Given the description of an element on the screen output the (x, y) to click on. 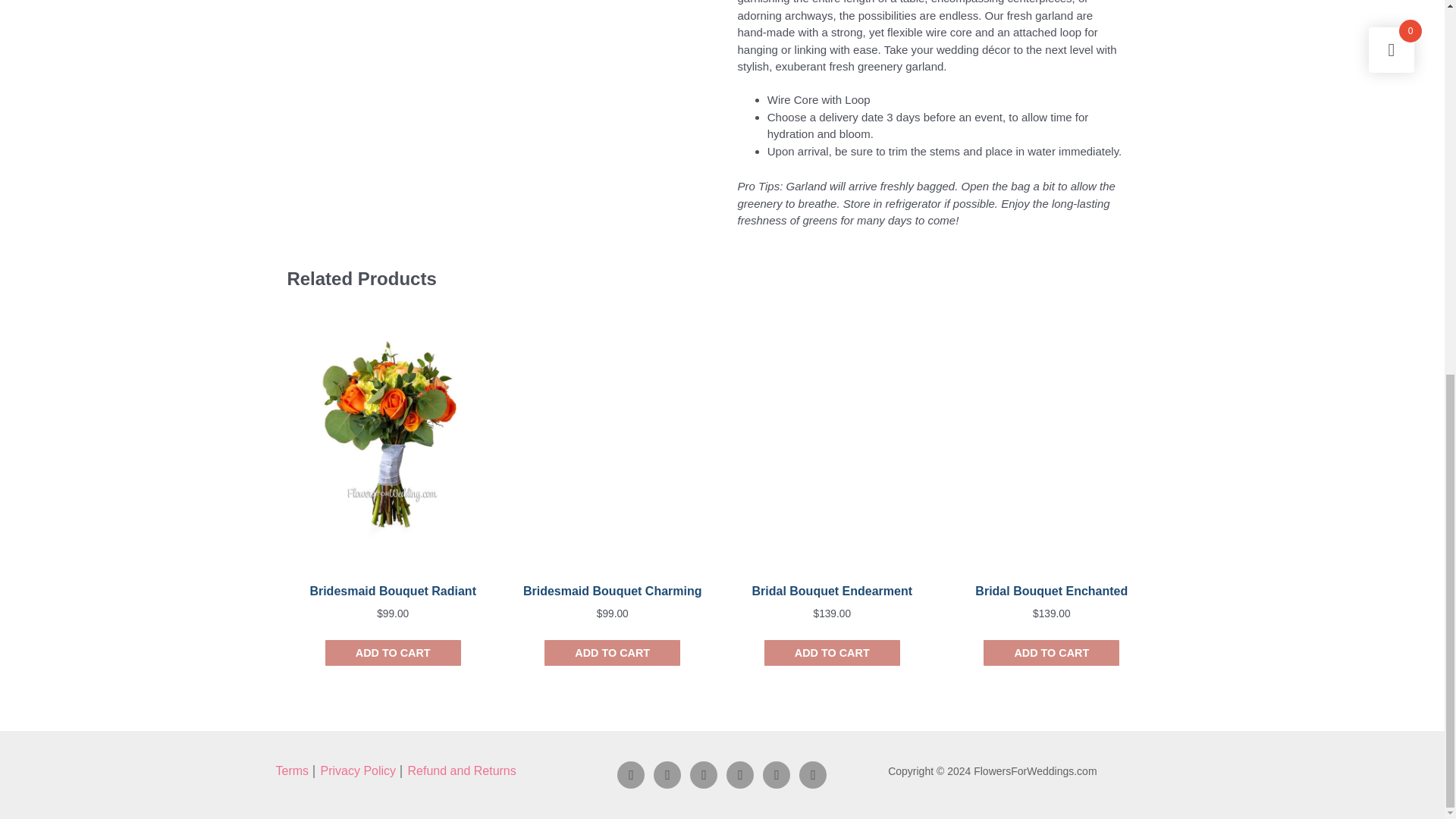
Instagram (667, 774)
Facebook (630, 774)
Pinterest (812, 774)
Tik Tok (739, 774)
Youtube (703, 774)
Twitter (776, 774)
